Given the description of an element on the screen output the (x, y) to click on. 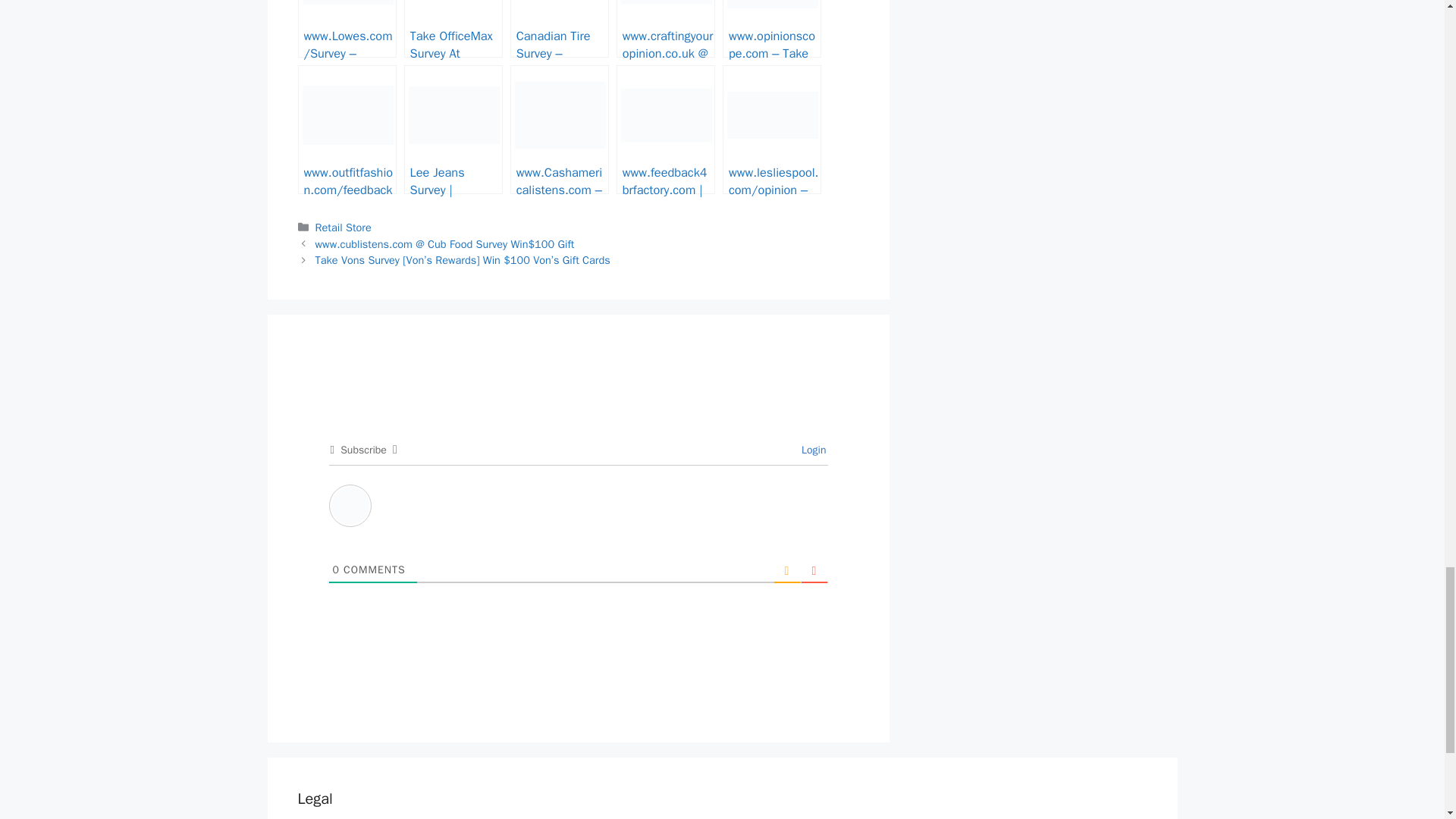
Take OfficeMax Survey At www.officemaxfeedback.com (453, 28)
Retail Store (343, 227)
Take OfficeMax Survey At www.officemaxfeedback.com (453, 28)
Login (811, 449)
